Given the description of an element on the screen output the (x, y) to click on. 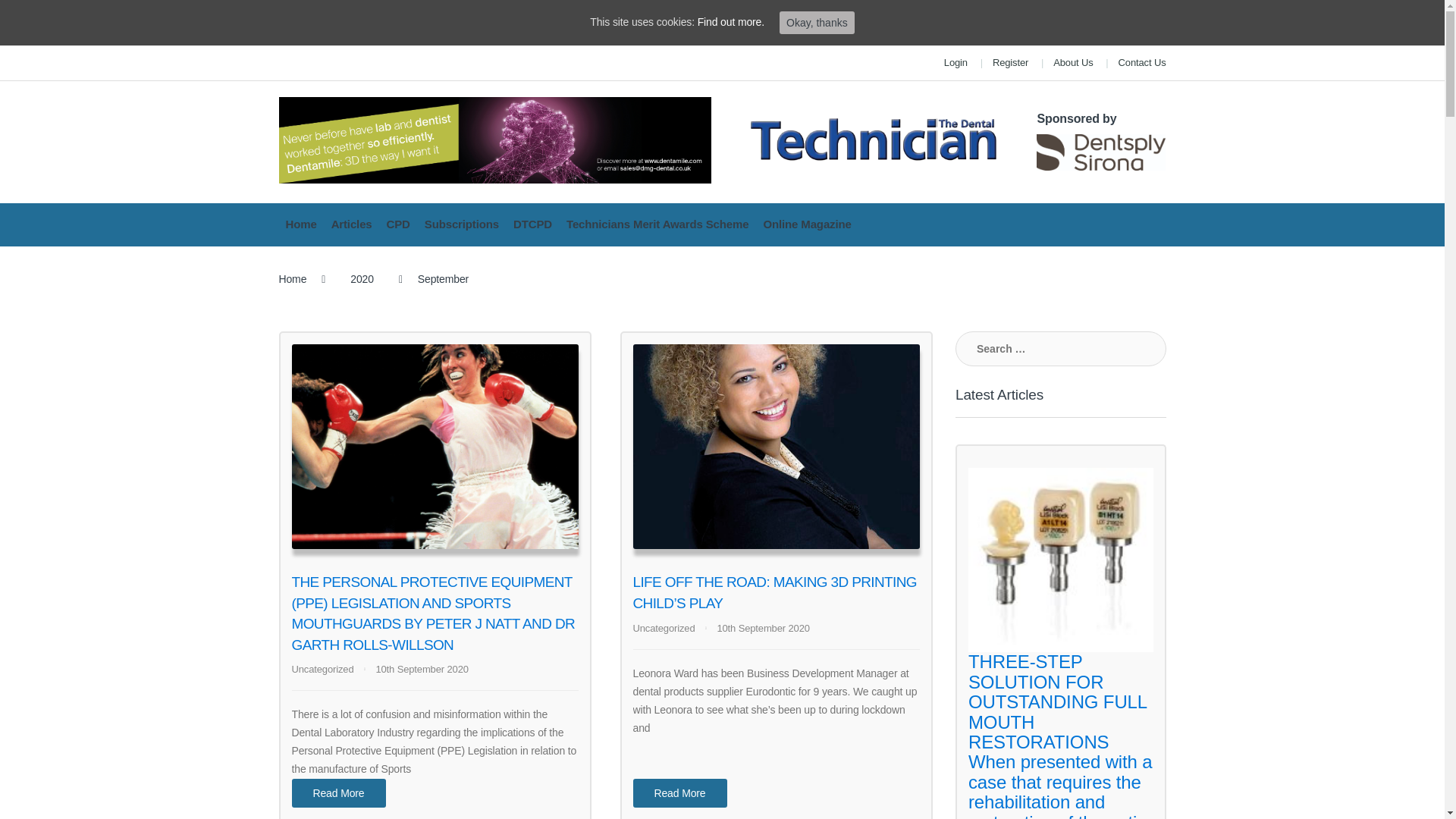
2020 (362, 279)
Home (293, 280)
Articles (352, 224)
Contact Us (1142, 63)
Login (955, 63)
Register (1009, 63)
Contact Us (1142, 63)
DTCPD (532, 224)
Subscriptions (461, 224)
CPD (398, 224)
CPD (398, 224)
Register (1009, 63)
Home (301, 224)
10th September 2020 (421, 668)
Home (301, 224)
